Given the description of an element on the screen output the (x, y) to click on. 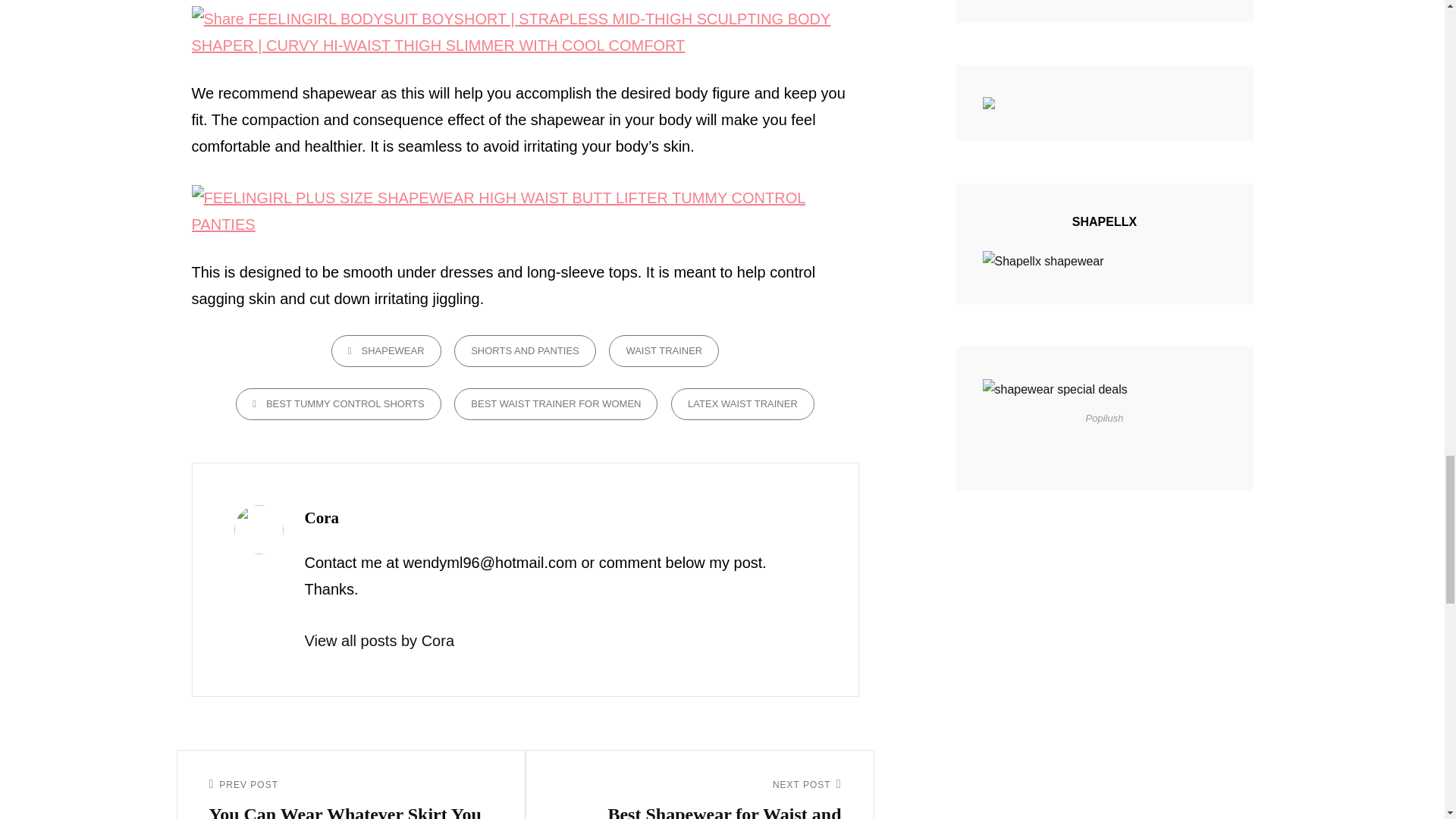
shapellx (699, 798)
SHORTS AND PANTIES (1042, 260)
BEST WAIST TRAINER FOR WOMEN (524, 350)
LATEX WAIST TRAINER (556, 404)
SHAPEWEAR (742, 404)
BEST TUMMY CONTROL SHORTS (386, 350)
WAIST TRAINER (338, 404)
View all posts by Cora (663, 350)
